Given the description of an element on the screen output the (x, y) to click on. 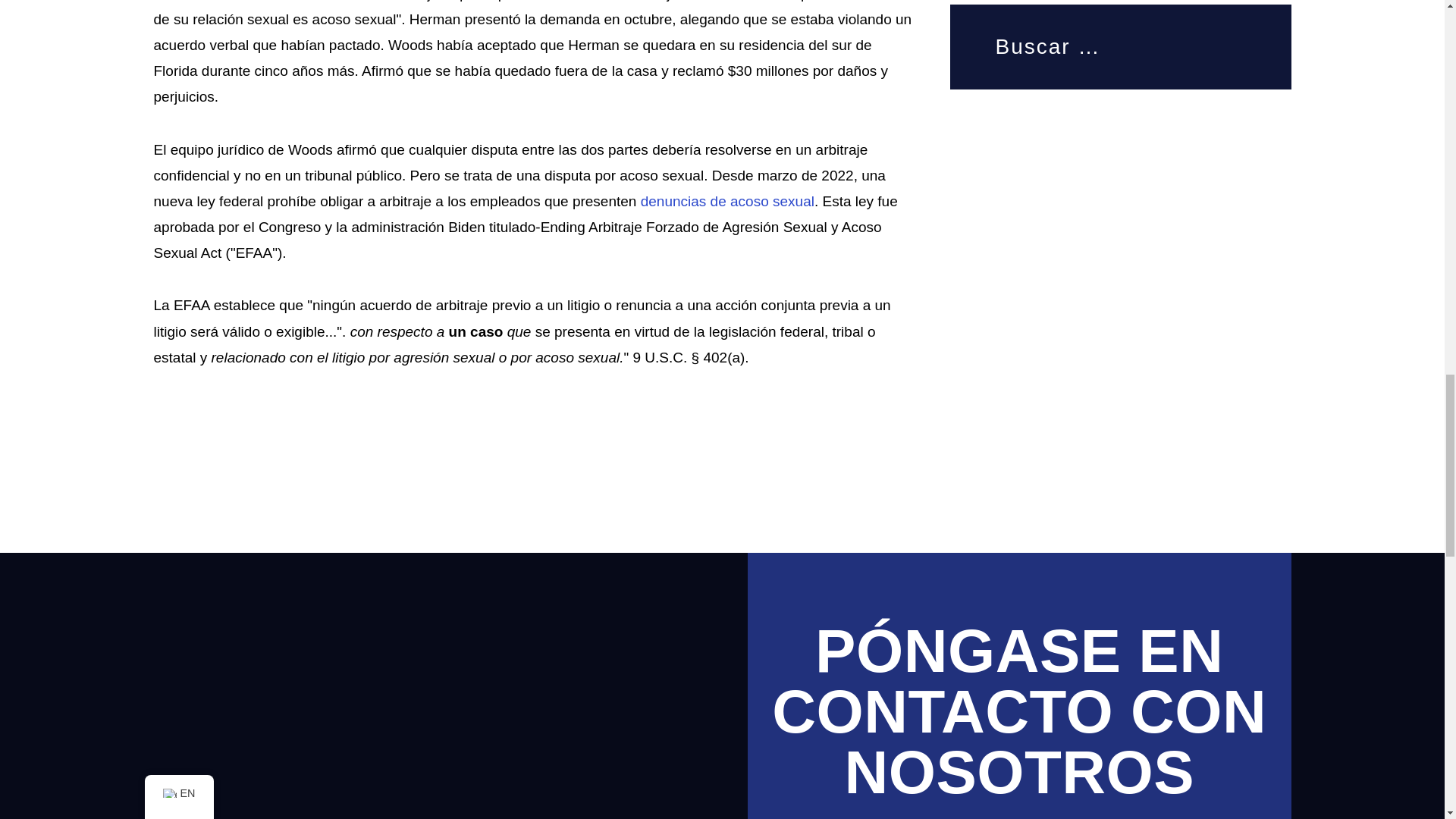
Buscar (1253, 44)
Buscar (1253, 44)
